Given the description of an element on the screen output the (x, y) to click on. 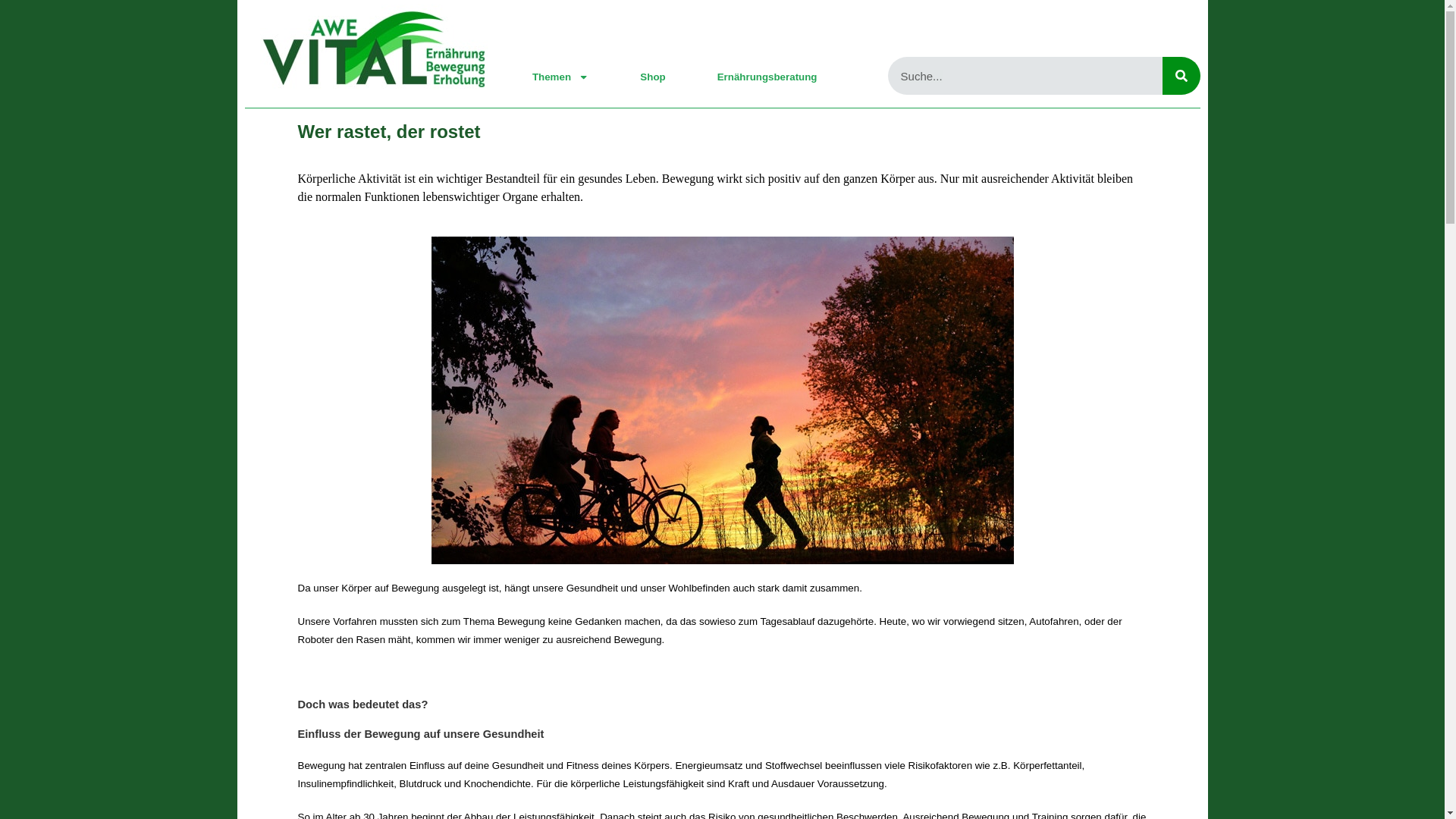
Suche Element type: hover (1181, 75)
Themen Element type: text (560, 76)
rastetrostet Element type: hover (721, 400)
Suche Element type: hover (1025, 75)
Shop Element type: text (652, 76)
